Given the description of an element on the screen output the (x, y) to click on. 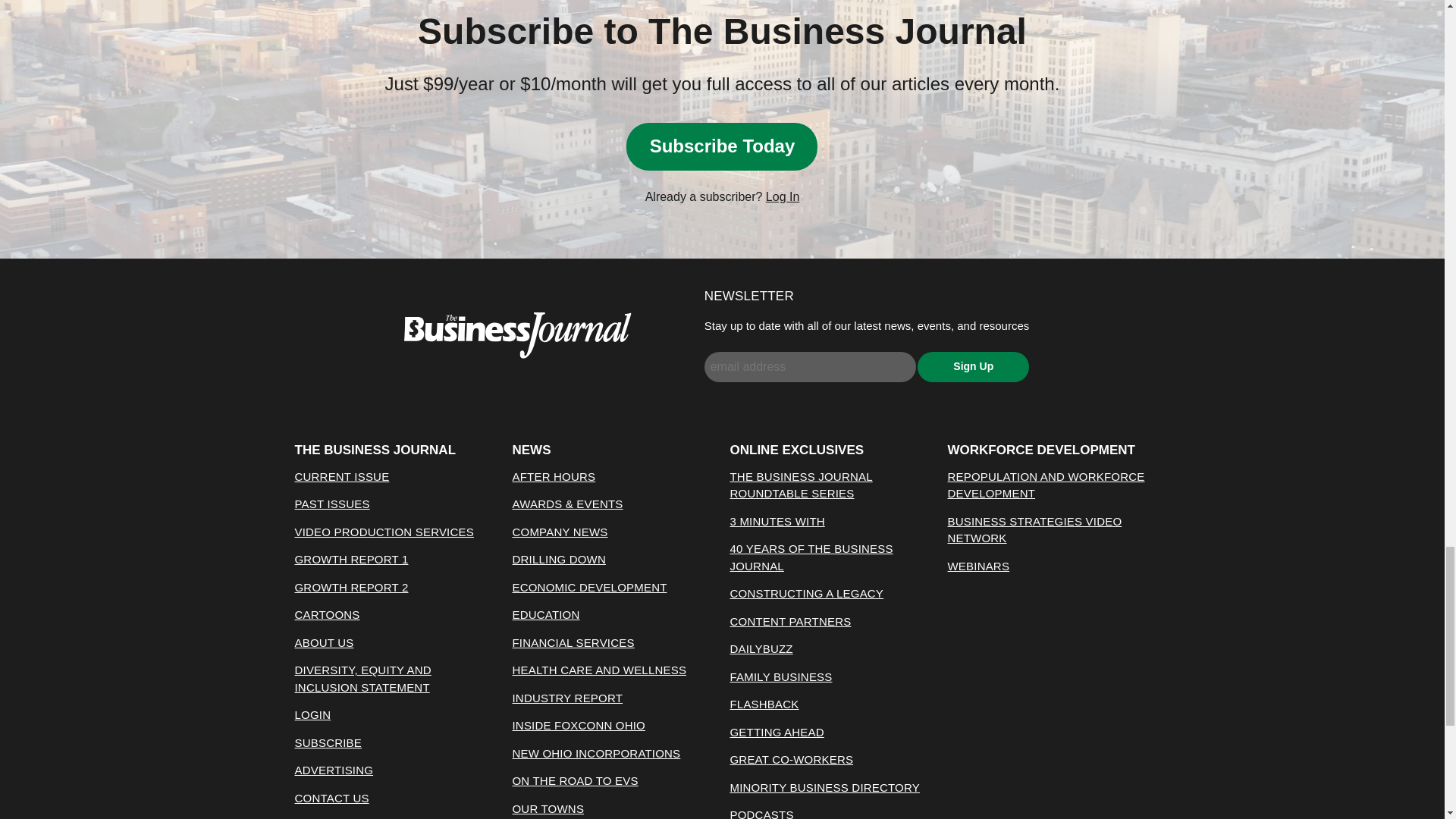
Sign Up (973, 367)
